Given the description of an element on the screen output the (x, y) to click on. 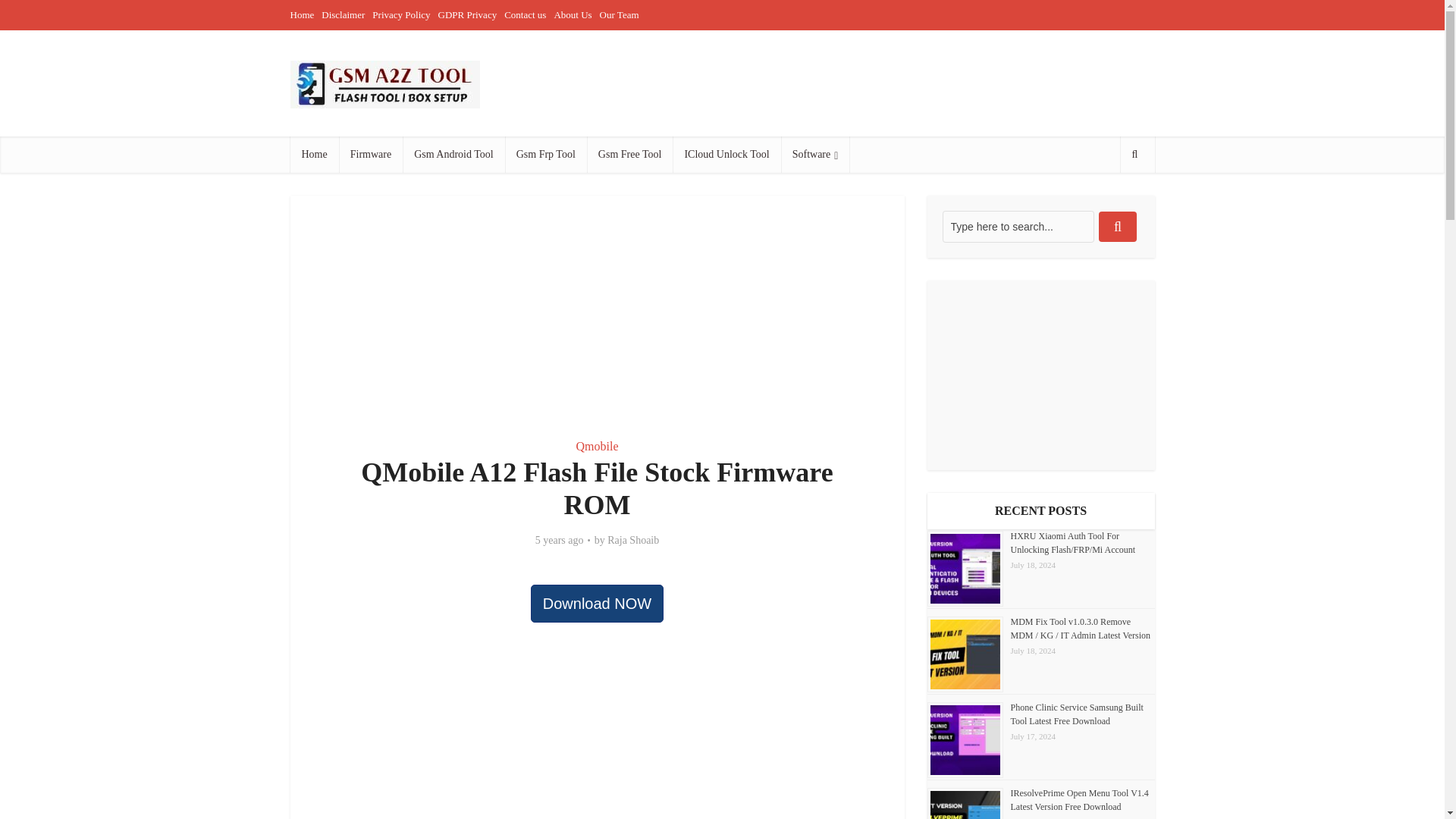
Privacy Policy (400, 14)
Firmware (371, 154)
Type here to search... (1017, 226)
Type here to search... (1017, 226)
Advertisement (596, 307)
Home (301, 14)
Advertisement (878, 83)
Software (815, 154)
Gsm Android Tool (454, 154)
Contact us (524, 14)
ICloud Unlock Tool (726, 154)
GDPR Privacy (467, 14)
Home (313, 154)
About Us (572, 14)
Disclaimer (343, 14)
